Given the description of an element on the screen output the (x, y) to click on. 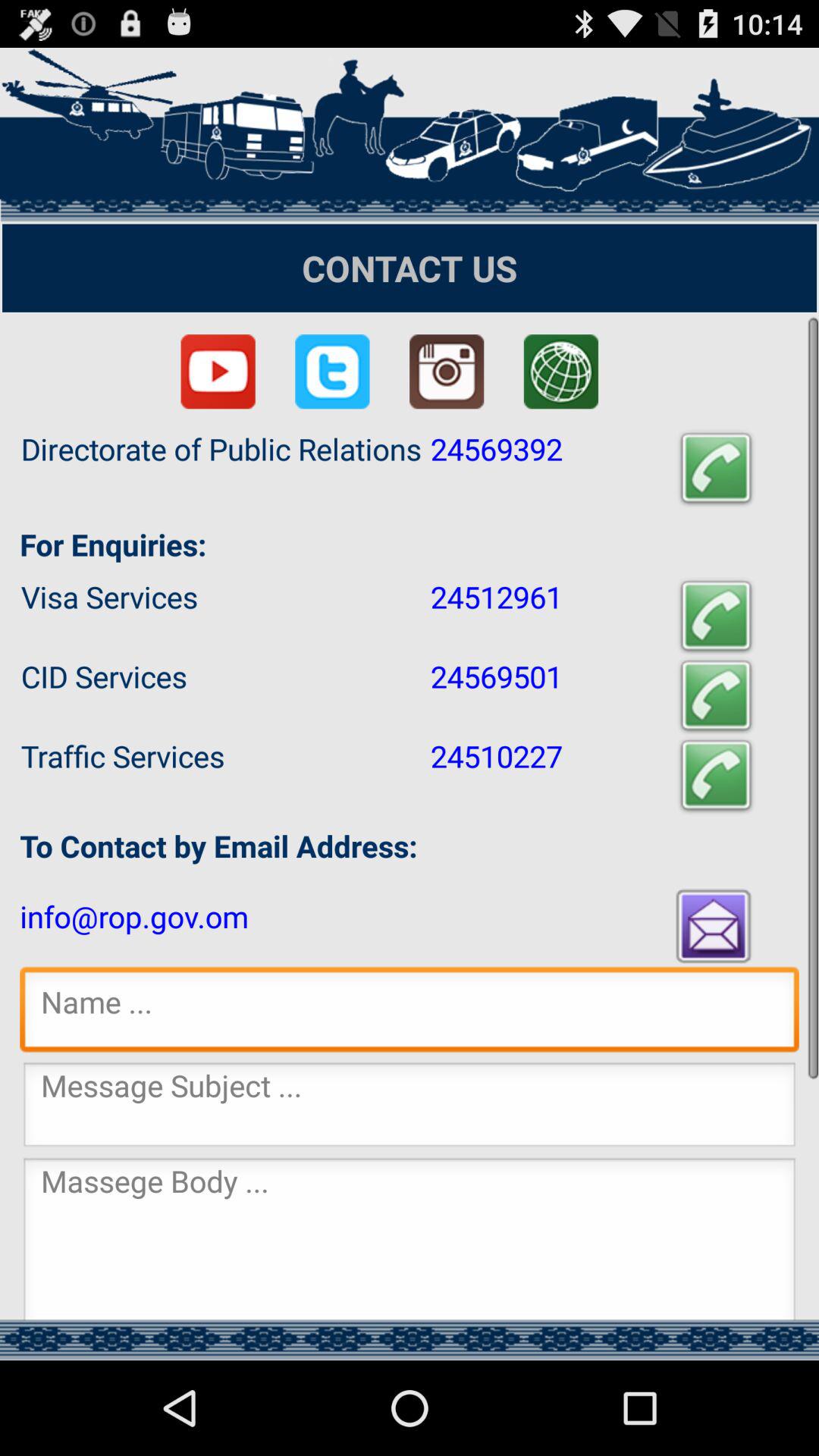
calls the number listed (716, 775)
